Given the description of an element on the screen output the (x, y) to click on. 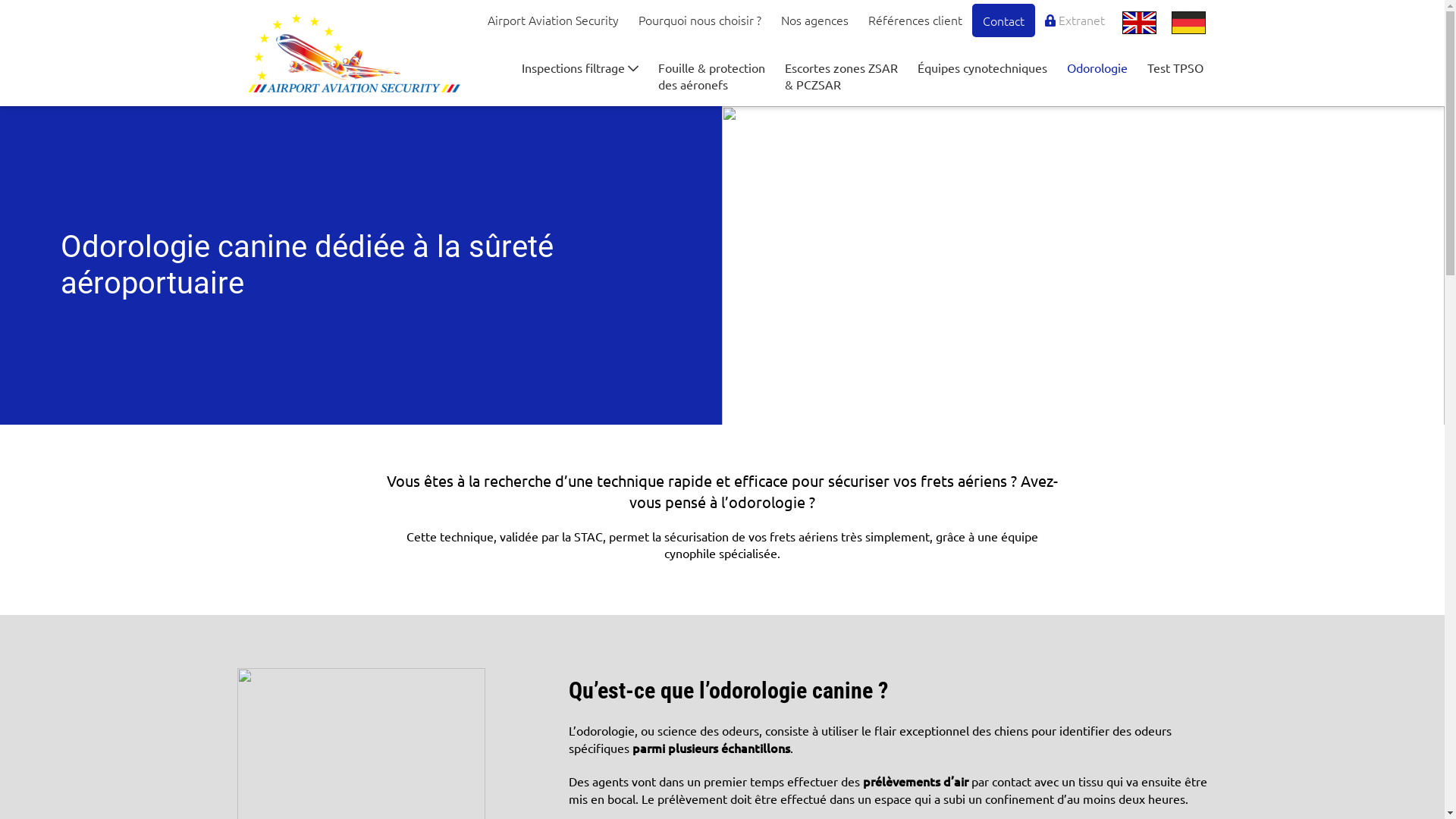
Extranet Element type: text (1074, 19)
Contact Element type: text (1003, 20)
Escortes zones ZSAR
& PCZSAR Element type: text (841, 75)
Odorologie Element type: text (1097, 67)
Airport Aviation Security Element type: text (552, 19)
Pourquoi nous choisir ? Element type: text (699, 19)
Nos agences Element type: text (814, 19)
Inspections filtrage Element type: text (579, 67)
Test TPSO Element type: text (1175, 67)
